Given the description of an element on the screen output the (x, y) to click on. 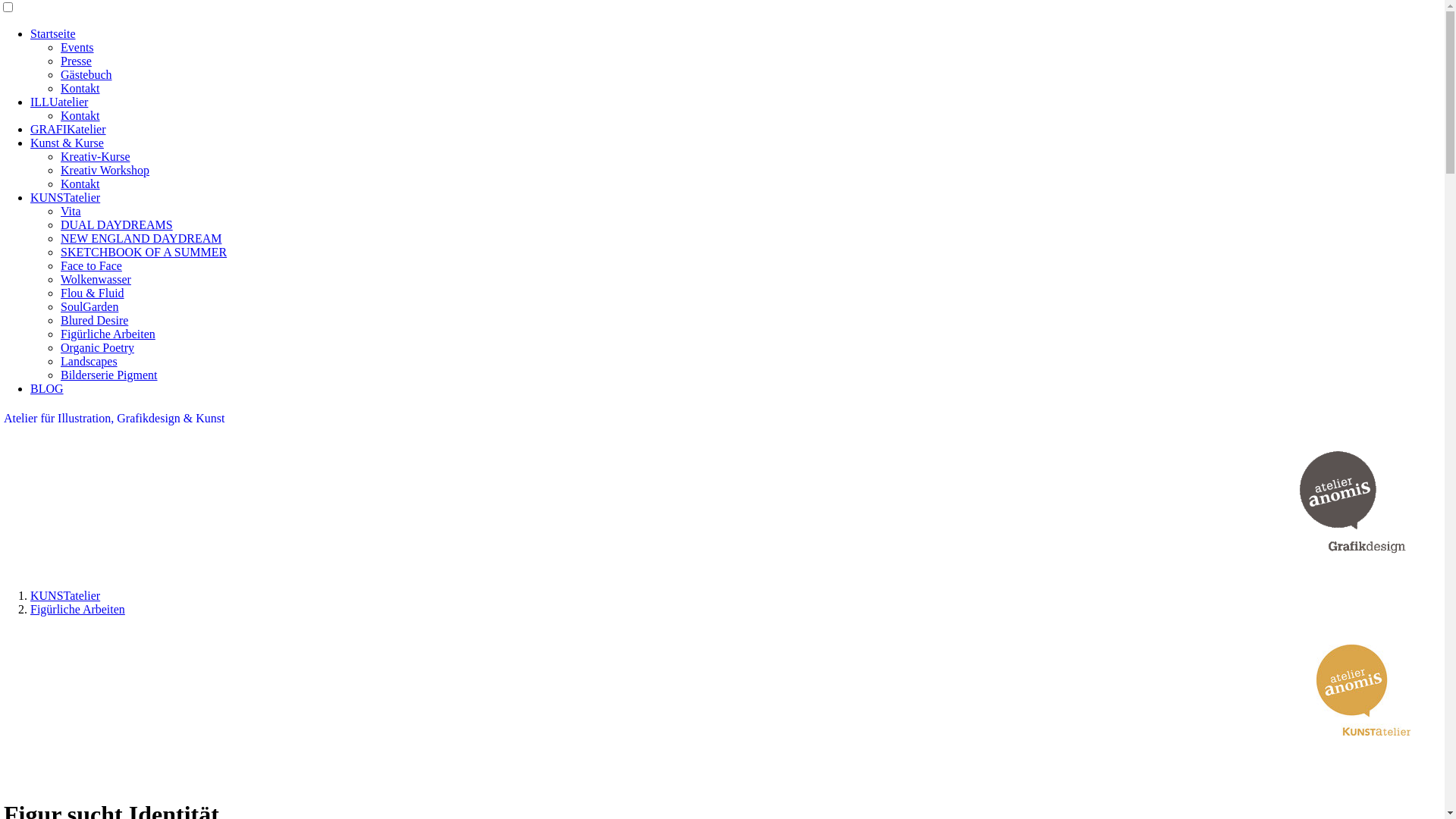
Kreativ Workshop Element type: text (104, 169)
KUNSTatelier Element type: text (65, 197)
Kontakt Element type: text (80, 183)
Organic Poetry Element type: text (97, 347)
KUNSTatelier Element type: text (65, 595)
Landscapes Element type: text (88, 360)
NEW ENGLAND DAYDREAM Element type: text (140, 238)
DUAL DAYDREAMS Element type: text (116, 224)
Kunst & Kurse Element type: text (66, 142)
Vita Element type: text (70, 210)
SKETCHBOOK OF A SUMMER Element type: text (143, 251)
SoulGarden Element type: text (89, 306)
GRAFIKatelier Element type: text (68, 128)
Events Element type: text (77, 46)
Kreativ-Kurse Element type: text (95, 156)
Wolkenwasser Element type: text (95, 279)
Flou & Fluid Element type: text (92, 292)
Face to Face Element type: text (91, 265)
BLOG Element type: text (46, 388)
Blured Desire Element type: text (94, 319)
Kontakt Element type: text (80, 87)
Presse Element type: text (75, 60)
ILLUatelier Element type: text (58, 101)
Bilderserie Pigment Element type: text (108, 374)
Startseite Element type: text (52, 33)
Kontakt Element type: text (80, 115)
